Given the description of an element on the screen output the (x, y) to click on. 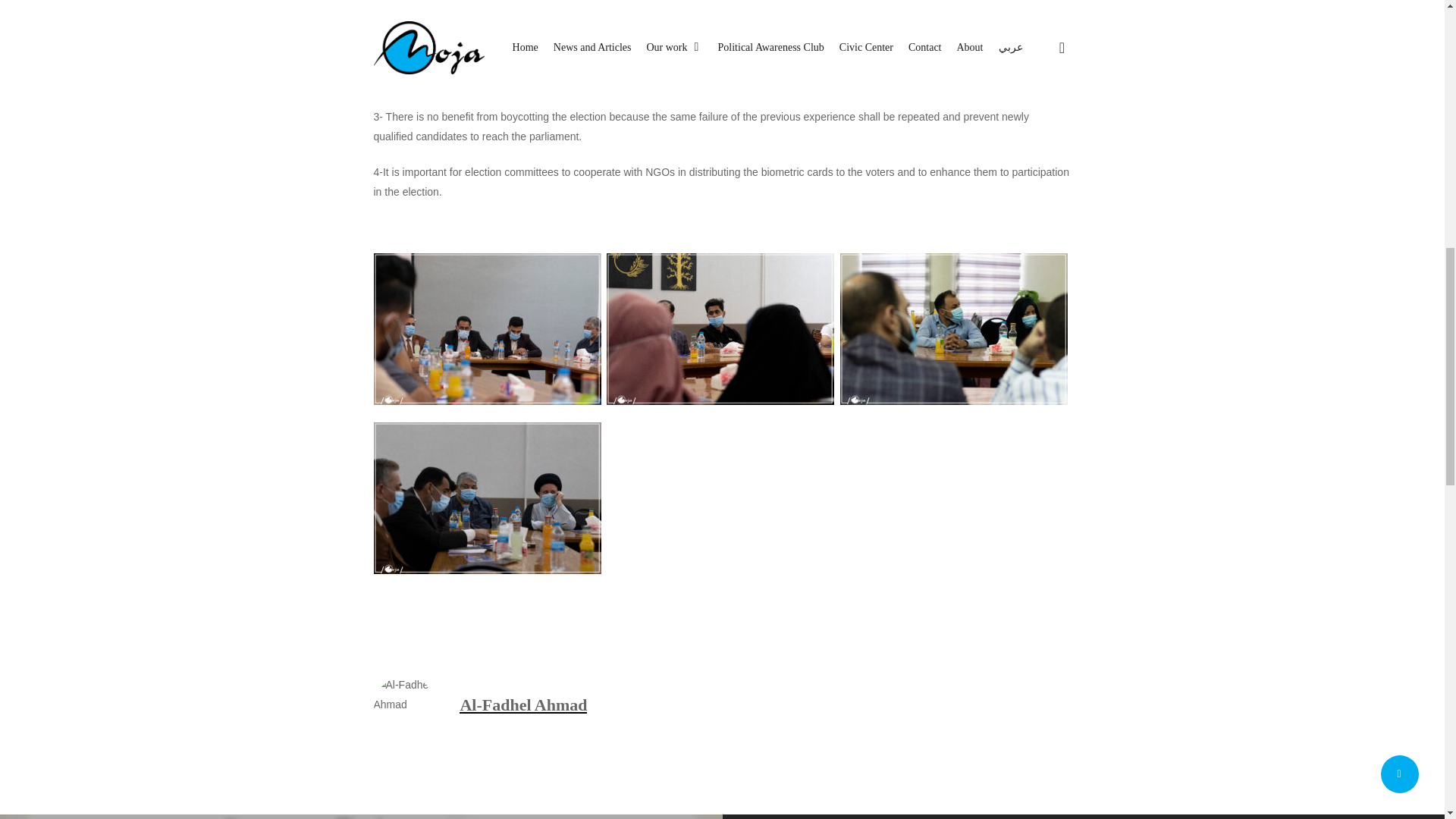
Al-Fadhel Ahmad (523, 704)
